Given the description of an element on the screen output the (x, y) to click on. 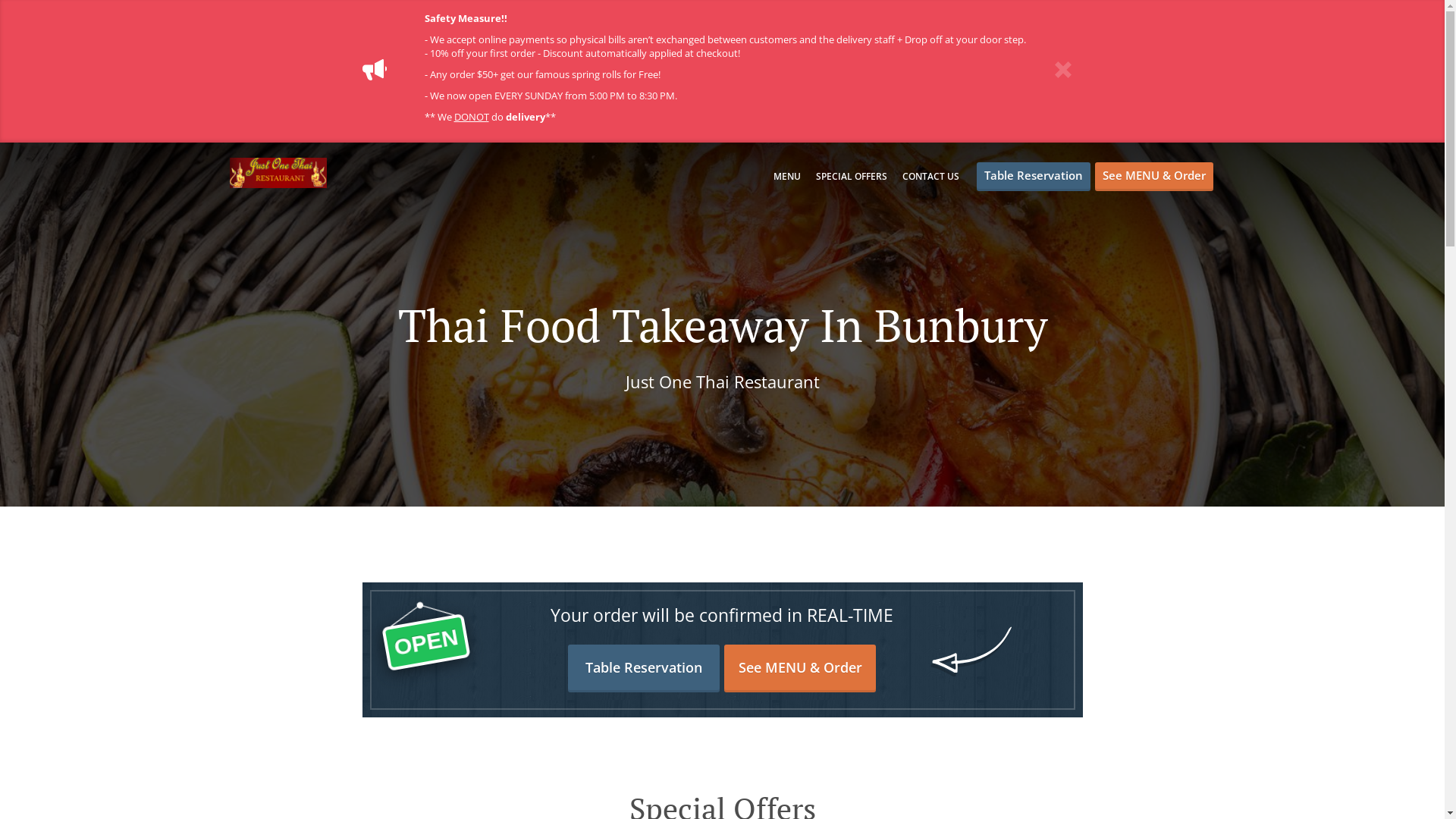
CONTACT US Element type: text (930, 175)
MENU Element type: text (786, 175)
SPECIAL OFFERS Element type: text (851, 175)
